Given the description of an element on the screen output the (x, y) to click on. 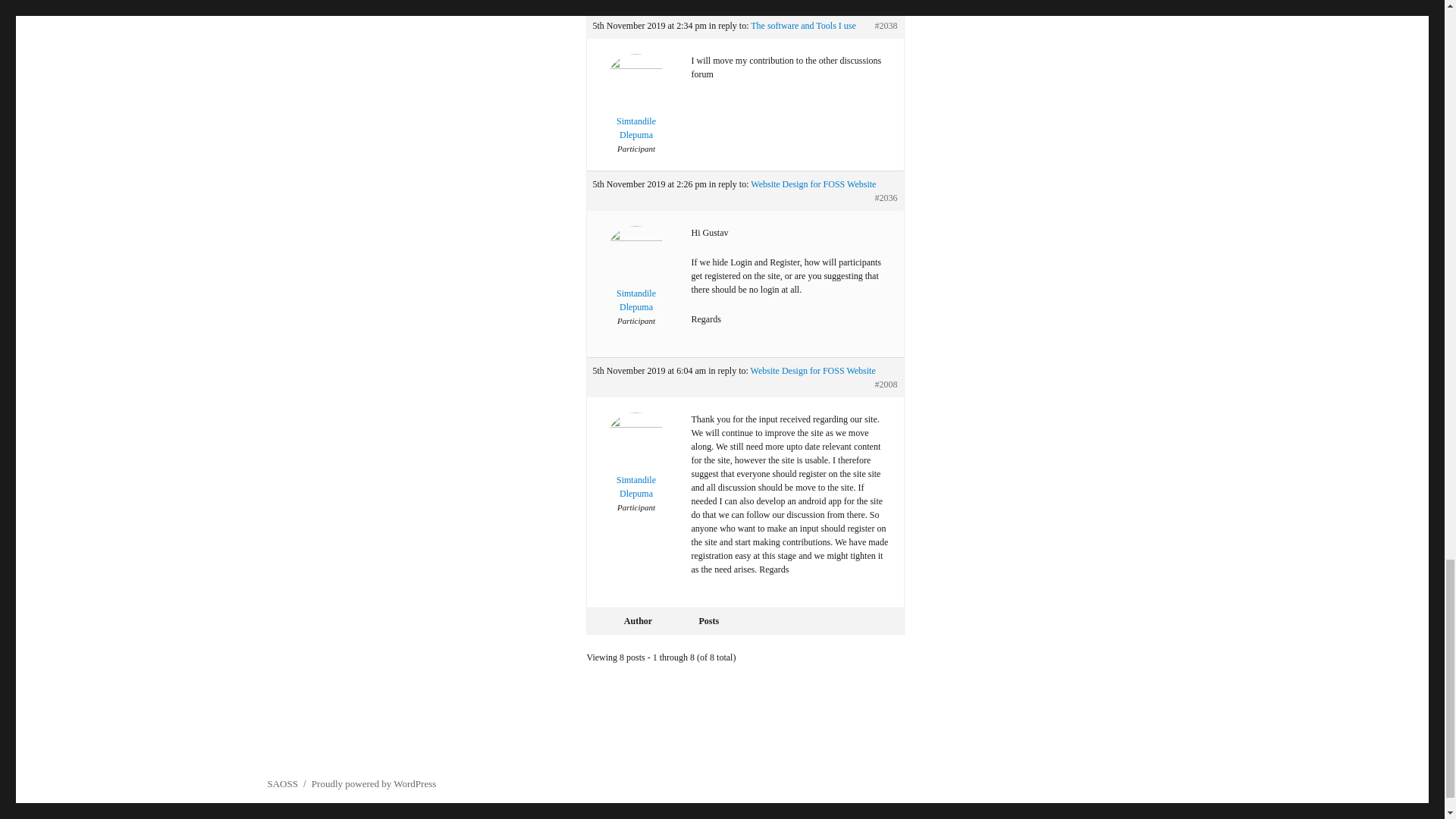
View Simtandile Dlepuma's profile (635, 466)
View Simtandile Dlepuma's profile (635, 107)
View Simtandile Dlepuma's profile (635, 279)
